Given the description of an element on the screen output the (x, y) to click on. 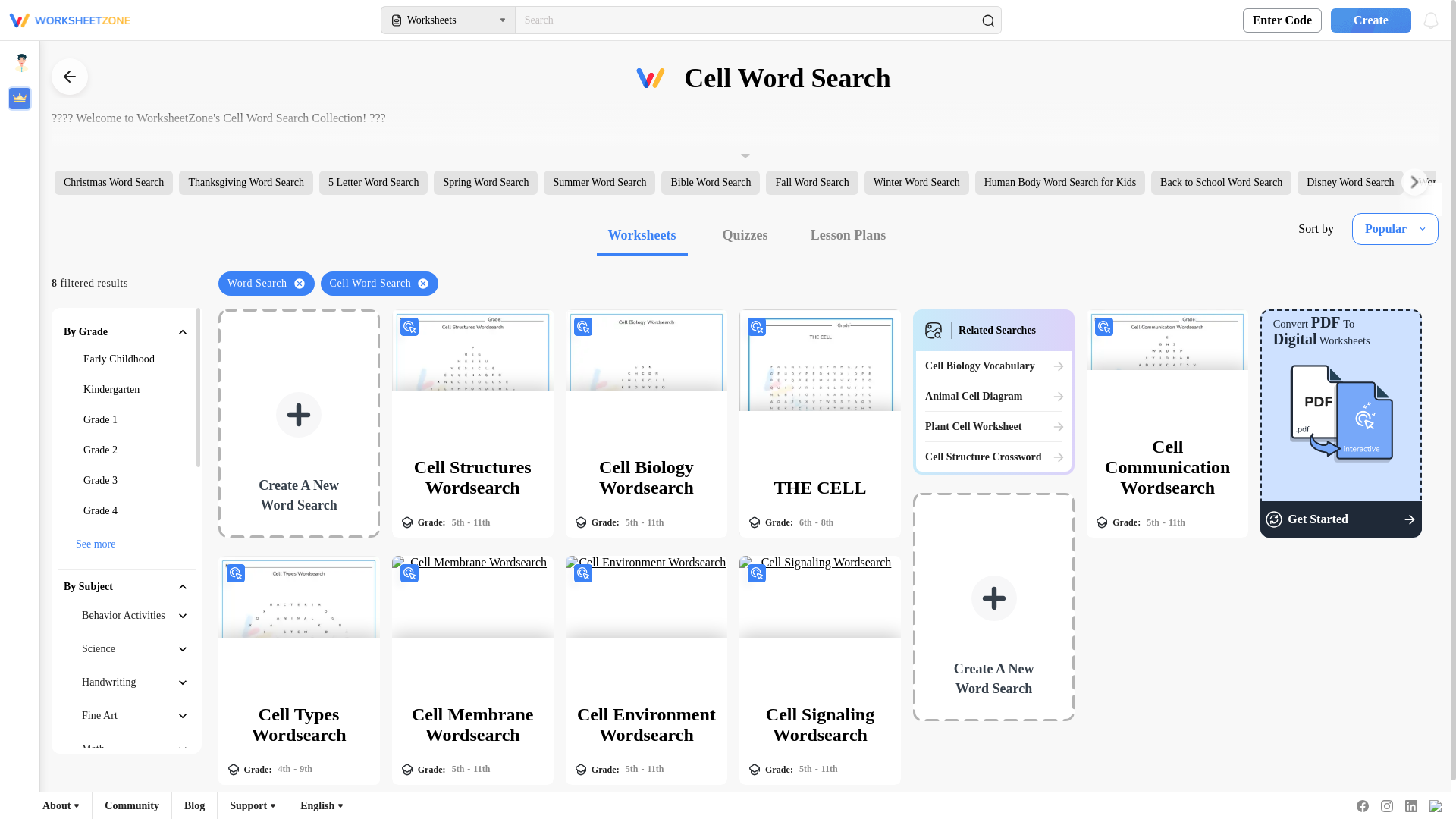
Christmas Word Search (114, 182)
Winter Word Search (916, 182)
Thanksgiving Word Search (246, 182)
Human Body Word Search for Kids (1059, 182)
Create (1366, 19)
Disney Word Search (1350, 182)
Fall Word Search (811, 182)
Back to School Word Search (1221, 182)
Enter Code (1282, 19)
Bible Word Search (710, 182)
5 Letter Word Search (373, 182)
Spring Word Search (485, 182)
Summer Word Search (599, 182)
